Given the description of an element on the screen output the (x, y) to click on. 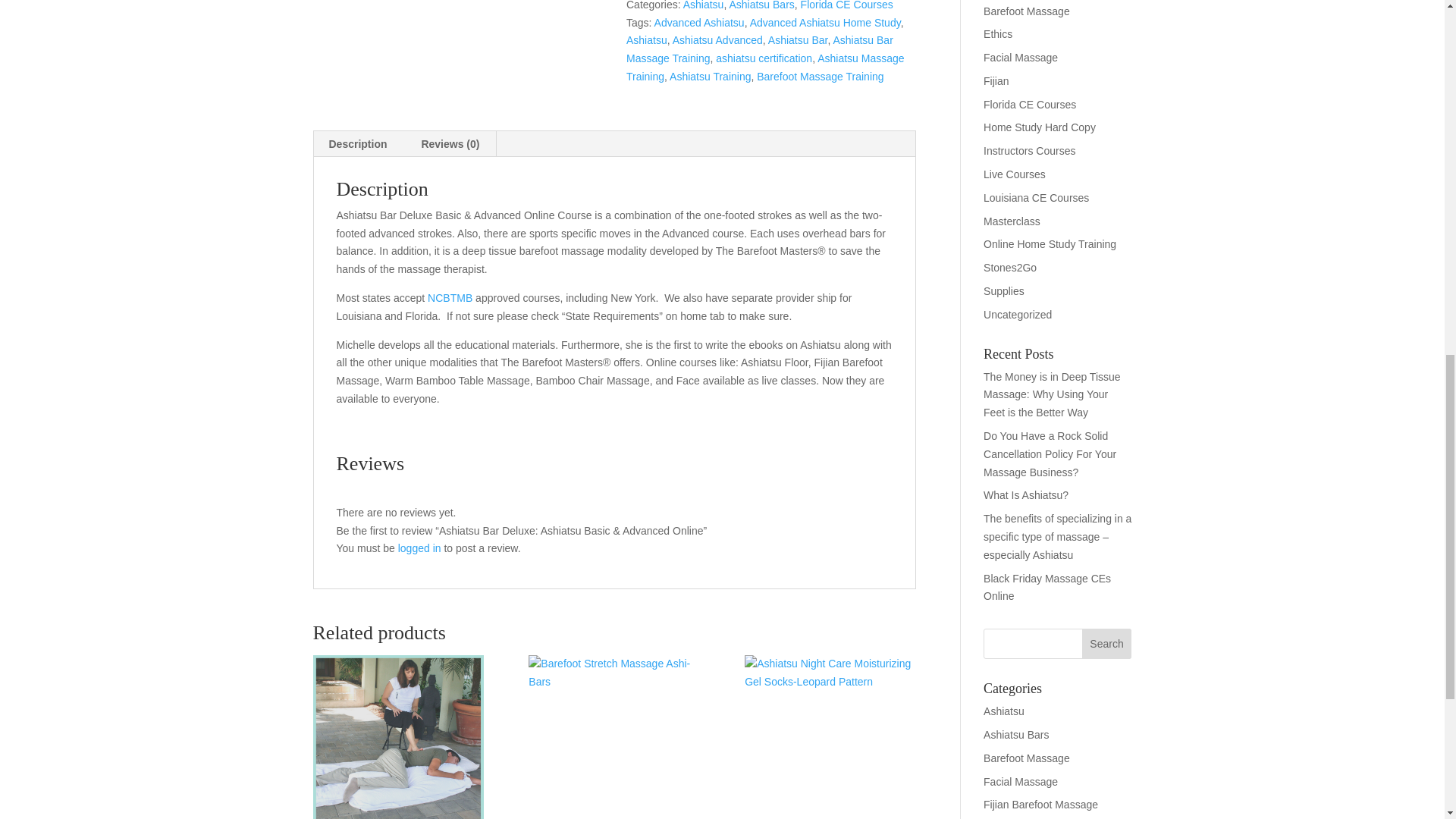
Ashiatsu Bar (798, 39)
Advanced Ashiatsu (698, 22)
Ashiatsu Advanced (717, 39)
Ashiatsu (646, 39)
Florida CE Courses (846, 5)
Ashiatsu (702, 5)
Search (1106, 643)
Ashiatsu Bars (761, 5)
Advanced Ashiatsu Home Study (825, 22)
Ashiatsu Bar Massage Training (759, 49)
